Given the description of an element on the screen output the (x, y) to click on. 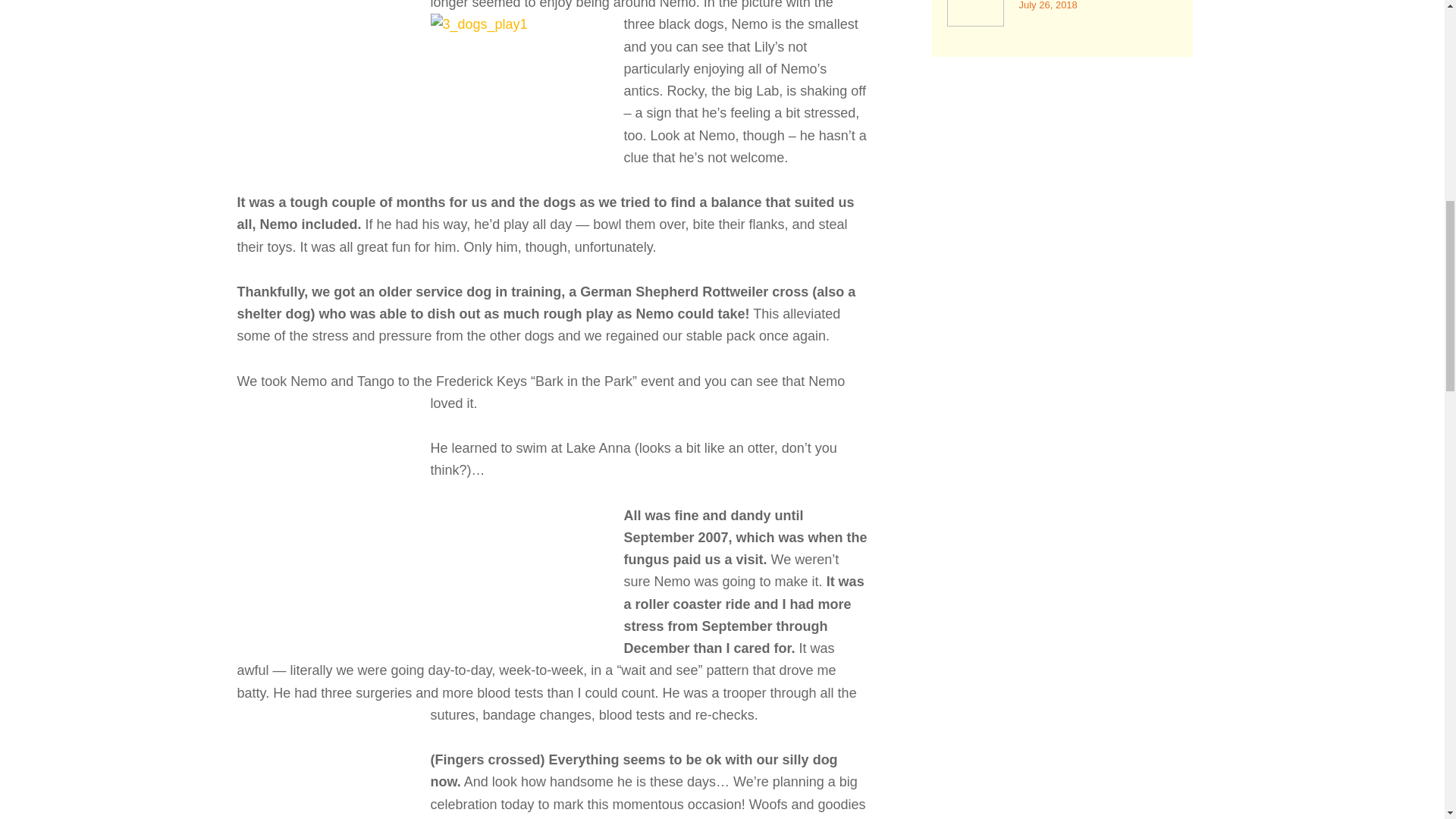
Otter (525, 576)
